Given the description of an element on the screen output the (x, y) to click on. 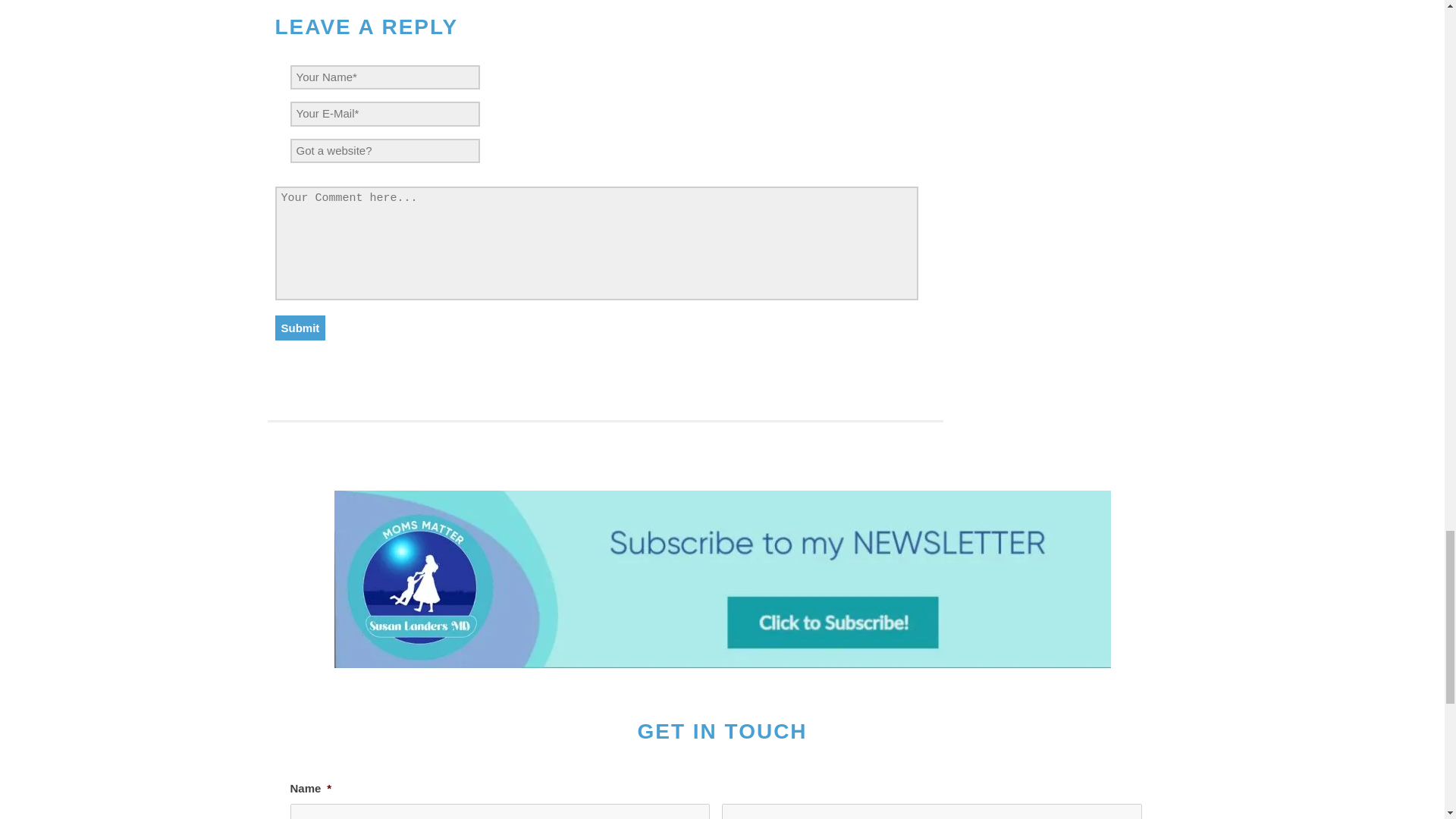
Submit (299, 327)
Submit (299, 327)
